Given the description of an element on the screen output the (x, y) to click on. 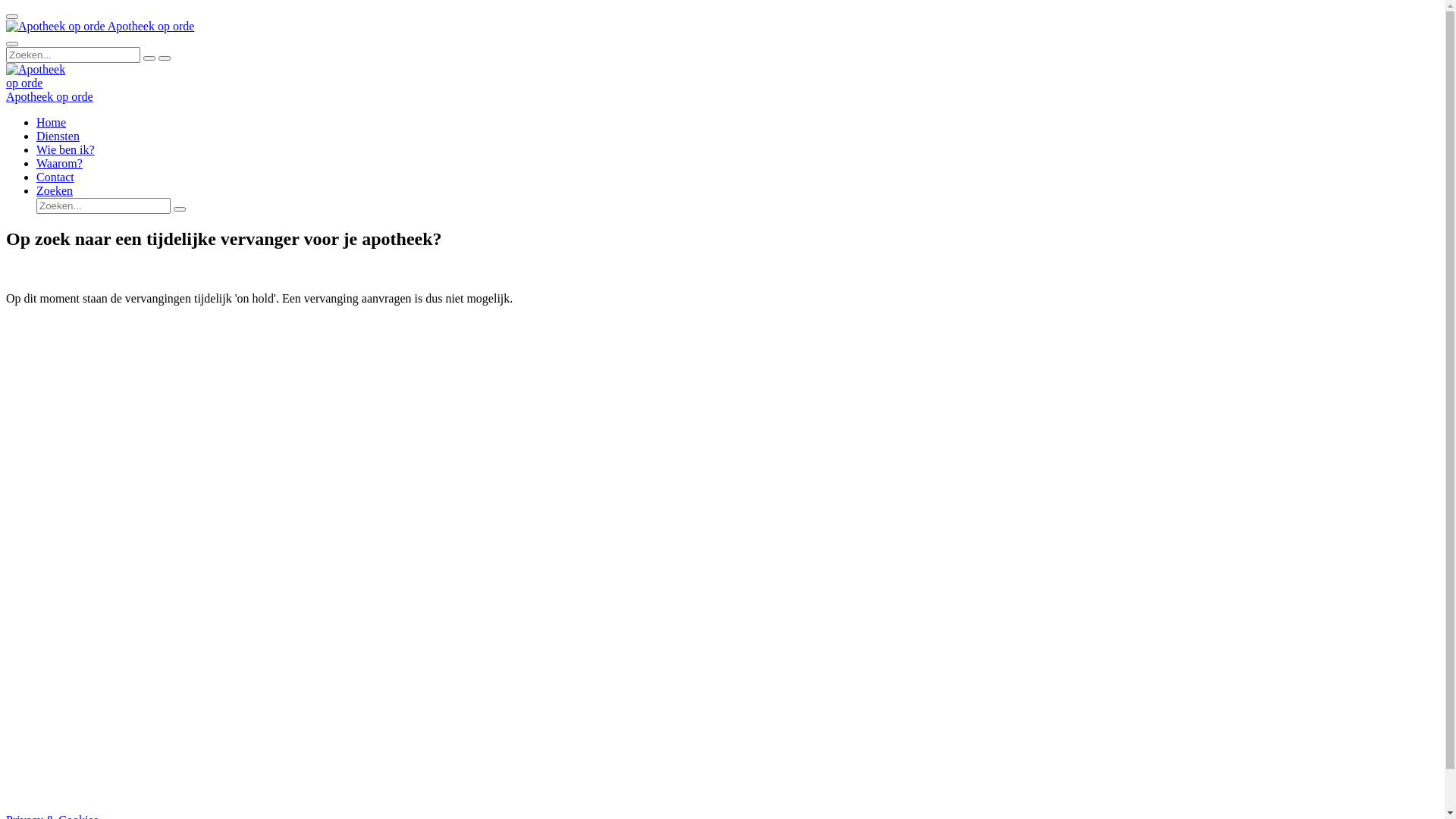
Contact Element type: text (55, 176)
Wie ben ik? Element type: text (65, 149)
Waarom? Element type: text (59, 162)
Diensten Element type: text (57, 135)
Home Element type: text (50, 122)
Apotheek op orde Element type: hover (55, 26)
Apotheek op orde Element type: hover (39, 76)
Apotheek op orde Element type: text (100, 25)
Zoeken Element type: text (54, 190)
Apotheek op orde Element type: text (49, 96)
